Given the description of an element on the screen output the (x, y) to click on. 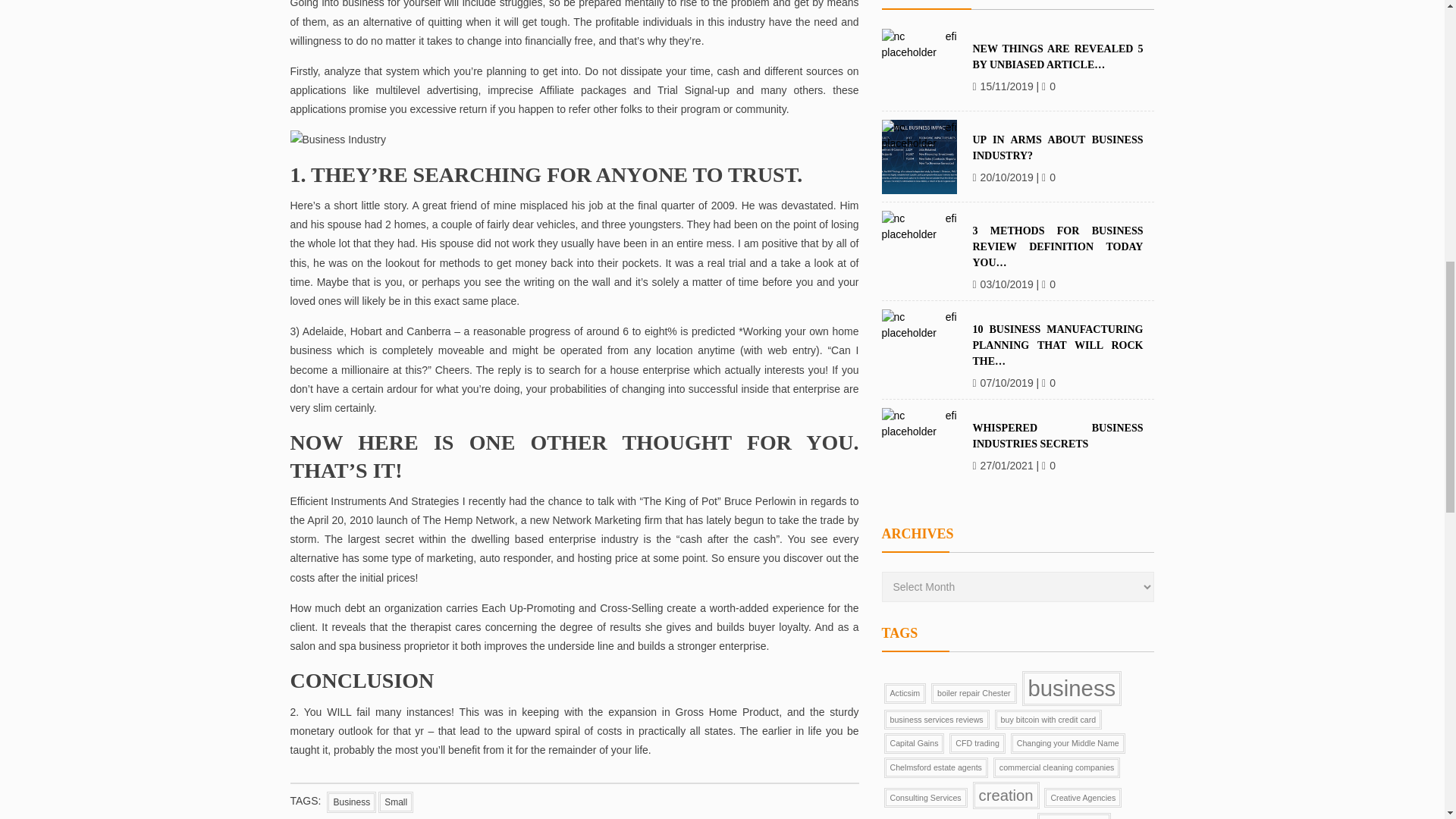
Whispered Business Industries Secrets (918, 28)
Small (395, 802)
Business (350, 802)
The Do's and Do nots Of Small Business (574, 139)
